Given the description of an element on the screen output the (x, y) to click on. 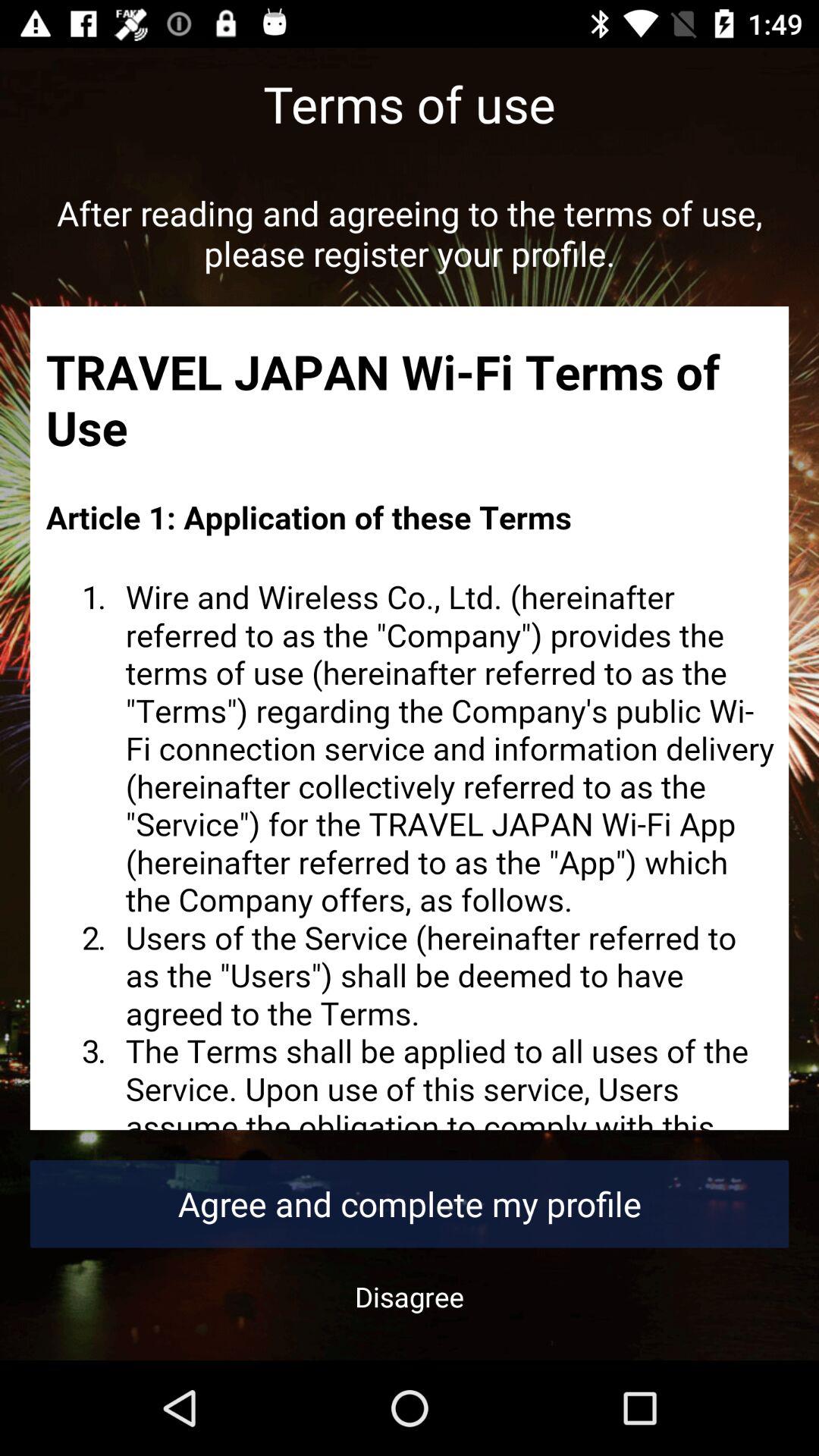
text box of terms conditions (409, 718)
